Given the description of an element on the screen output the (x, y) to click on. 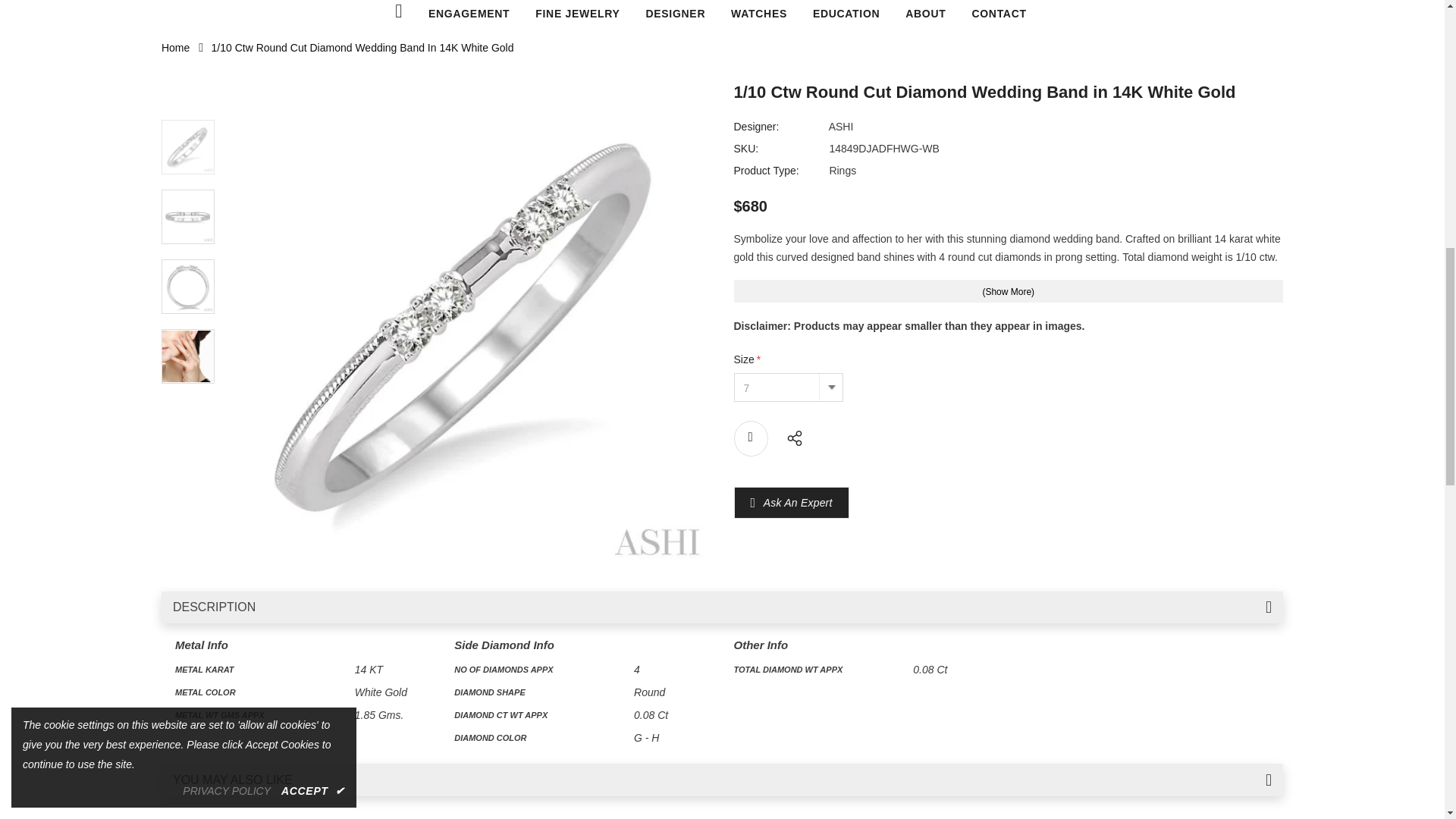
ABOUT (924, 14)
FINE JEWELRY (577, 14)
WATCHES (758, 14)
Home (175, 47)
ENGAGEMENT (468, 14)
EDUCATION (845, 14)
DESIGNER (674, 14)
ASHI (840, 126)
Wishlist (750, 438)
Ask An Expert (797, 502)
ASHI (840, 126)
CONTACT (998, 14)
Share (790, 435)
